Given the description of an element on the screen output the (x, y) to click on. 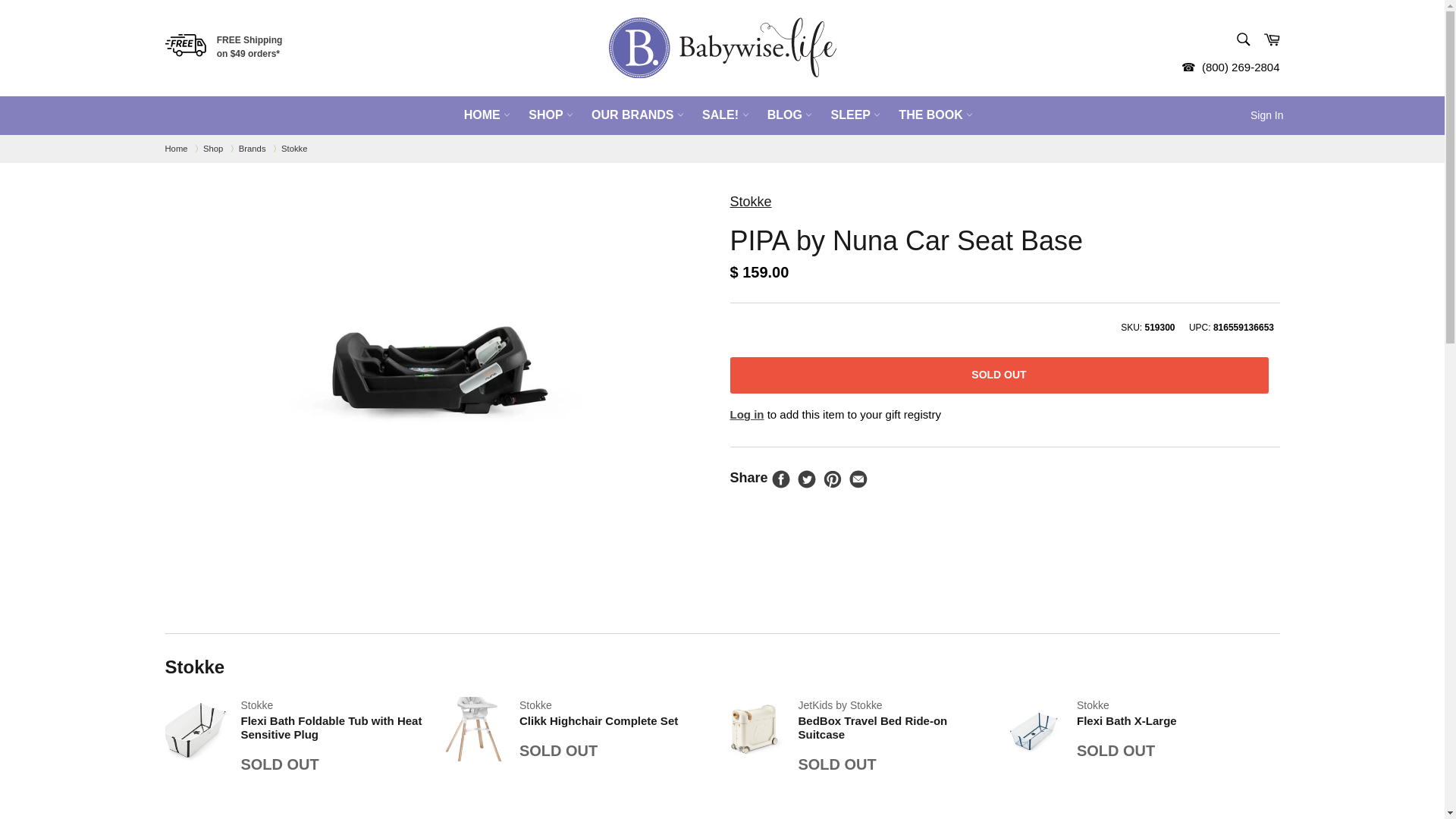
Babywise.life (176, 148)
Stokke (294, 148)
Shop (212, 148)
Top Brands (252, 148)
Share on Facebook (780, 485)
Share on Email (857, 485)
Zoom Photo 1 PIPA by Nuna Car Seat Base (439, 367)
Pin on Pinterest (832, 485)
Tweet on Twitter (806, 485)
